Given the description of an element on the screen output the (x, y) to click on. 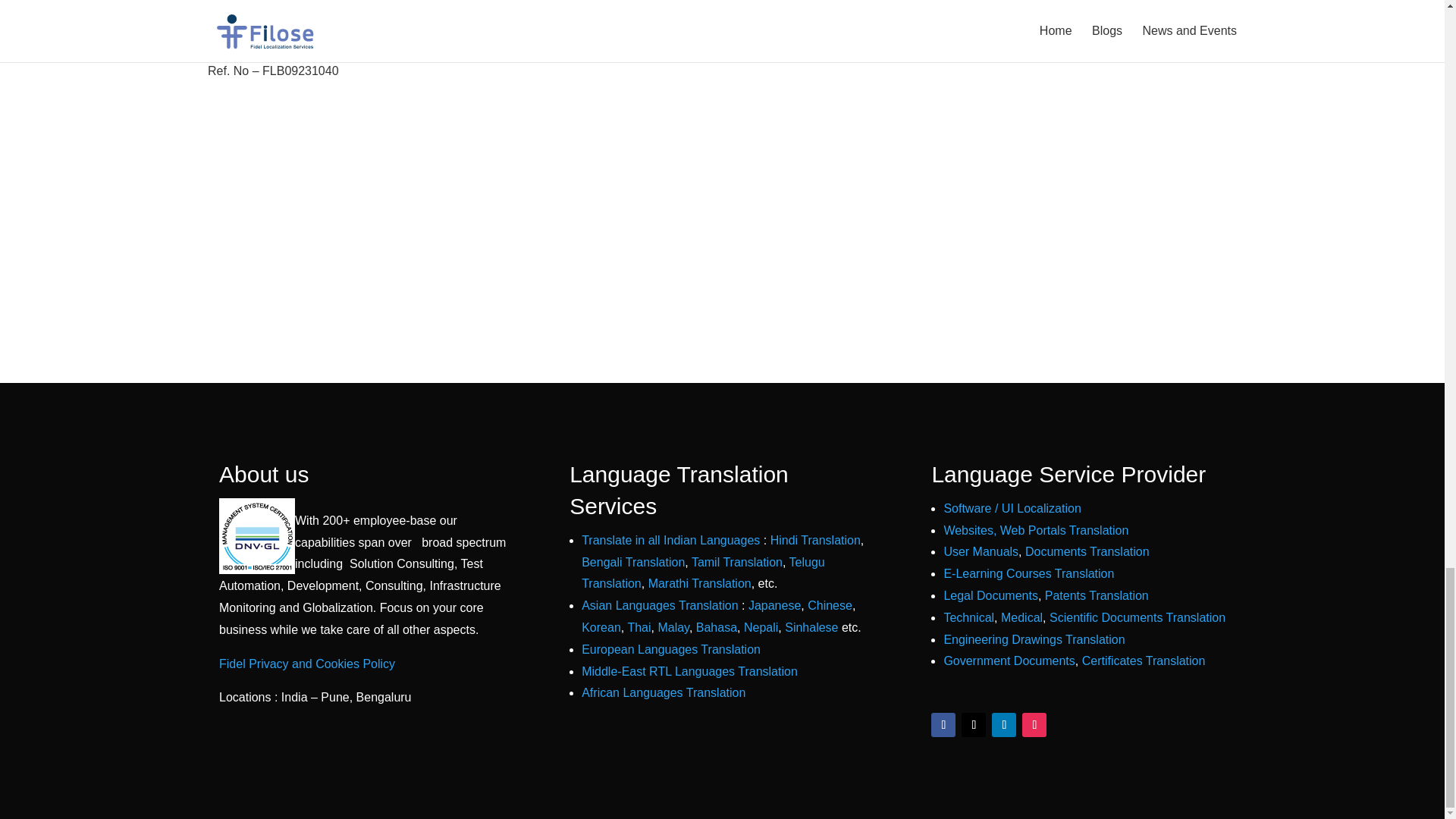
Hindi Translation (815, 540)
Asian Languages Translation (659, 604)
Legal Documents (990, 594)
Websites, Web Portals Translation (1035, 530)
Sinhalese (812, 626)
Chinese (829, 604)
Follow on Facebook (943, 724)
Middle-East RTL Languages Translation (688, 671)
Japanese (774, 604)
E-Learning Courses Translation (1028, 573)
Medical (1021, 617)
Tamil Translation (737, 562)
Fidel Privacy and Cookies Policy (306, 663)
Scientific Documents Translation (1137, 617)
Bahasa (715, 626)
